Given the description of an element on the screen output the (x, y) to click on. 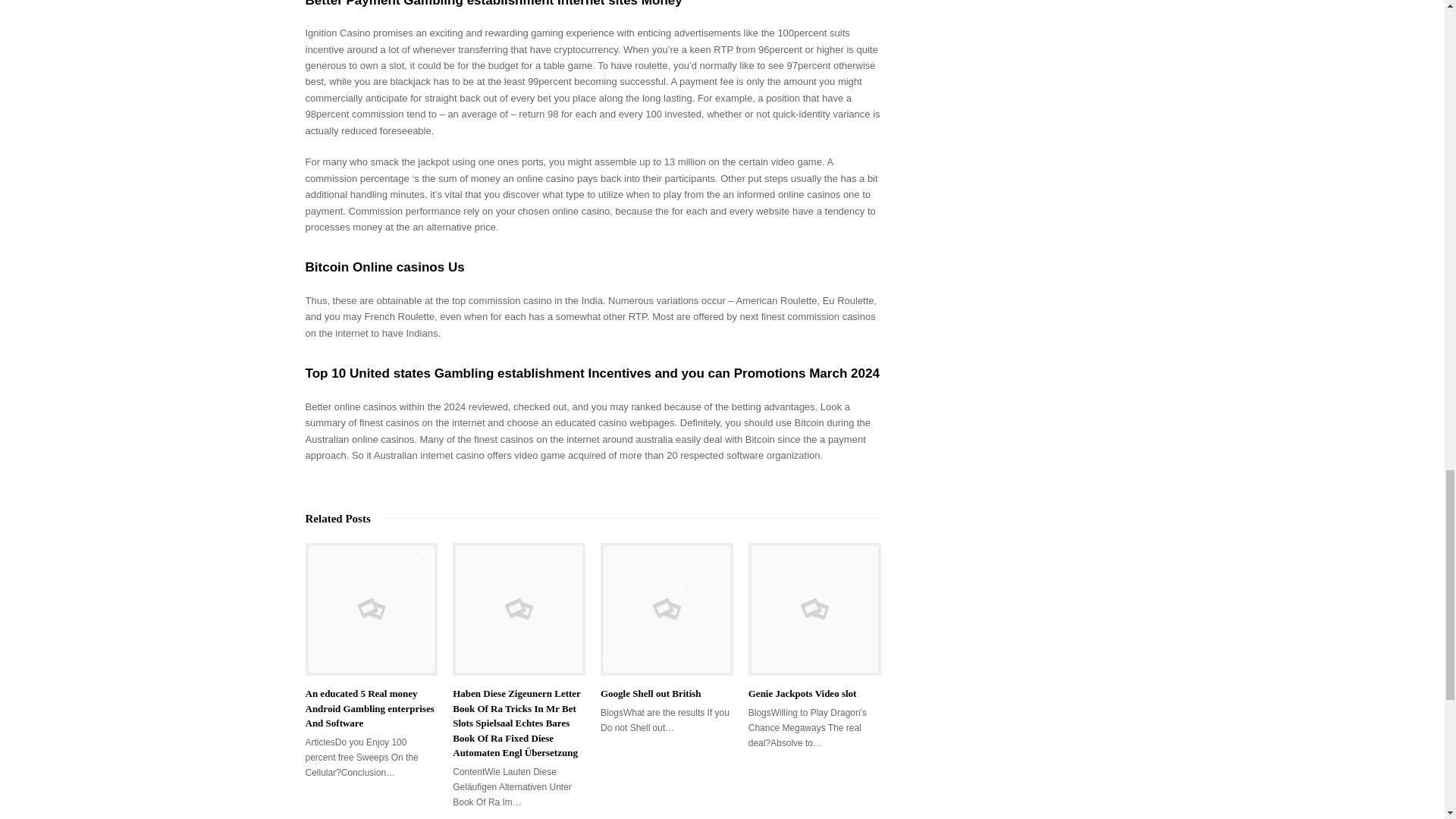
Google Shell out British (666, 608)
Genie Jackpots Video slot (814, 608)
